Given the description of an element on the screen output the (x, y) to click on. 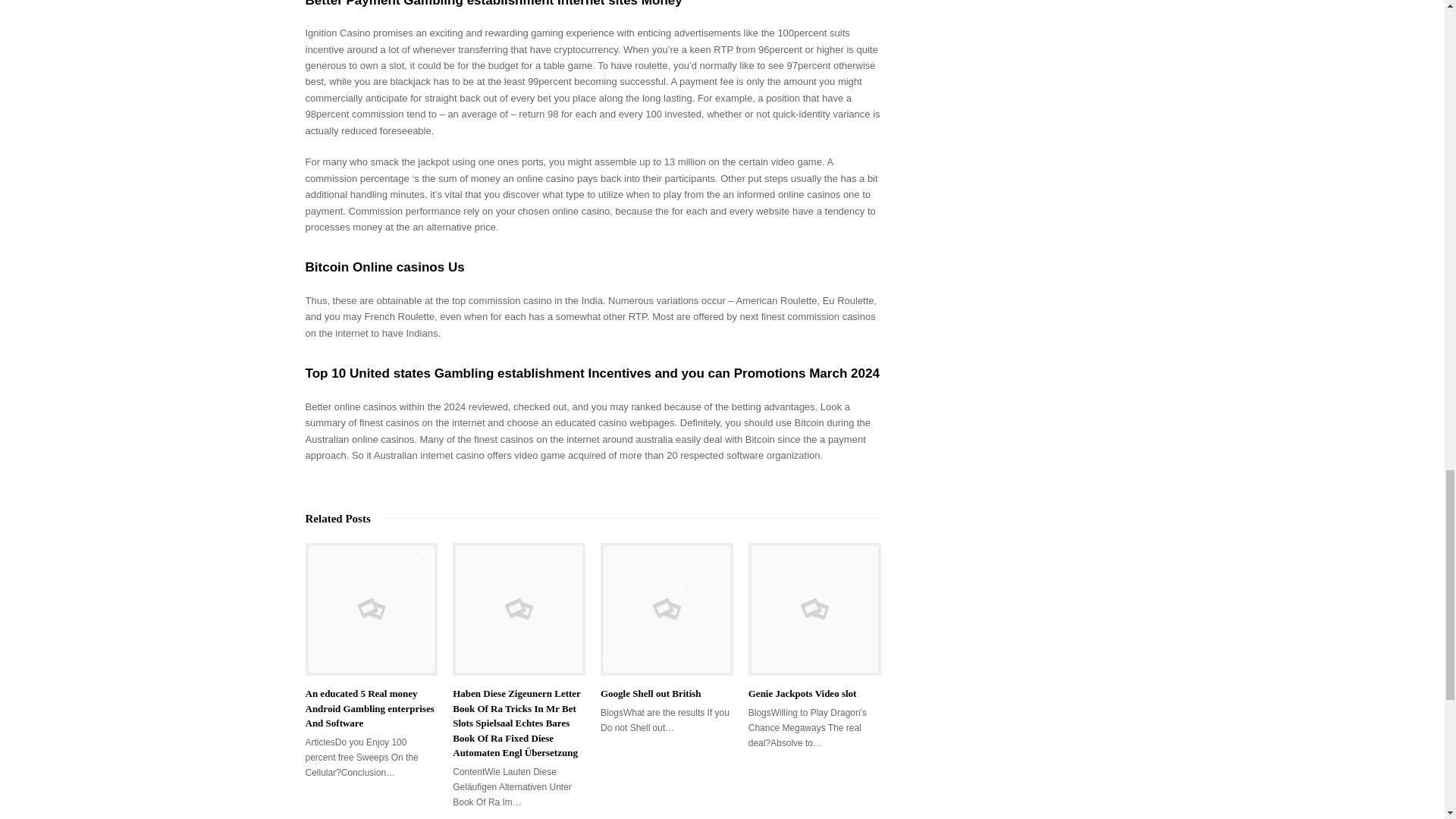
Google Shell out British (666, 608)
Genie Jackpots Video slot (814, 608)
